Given the description of an element on the screen output the (x, y) to click on. 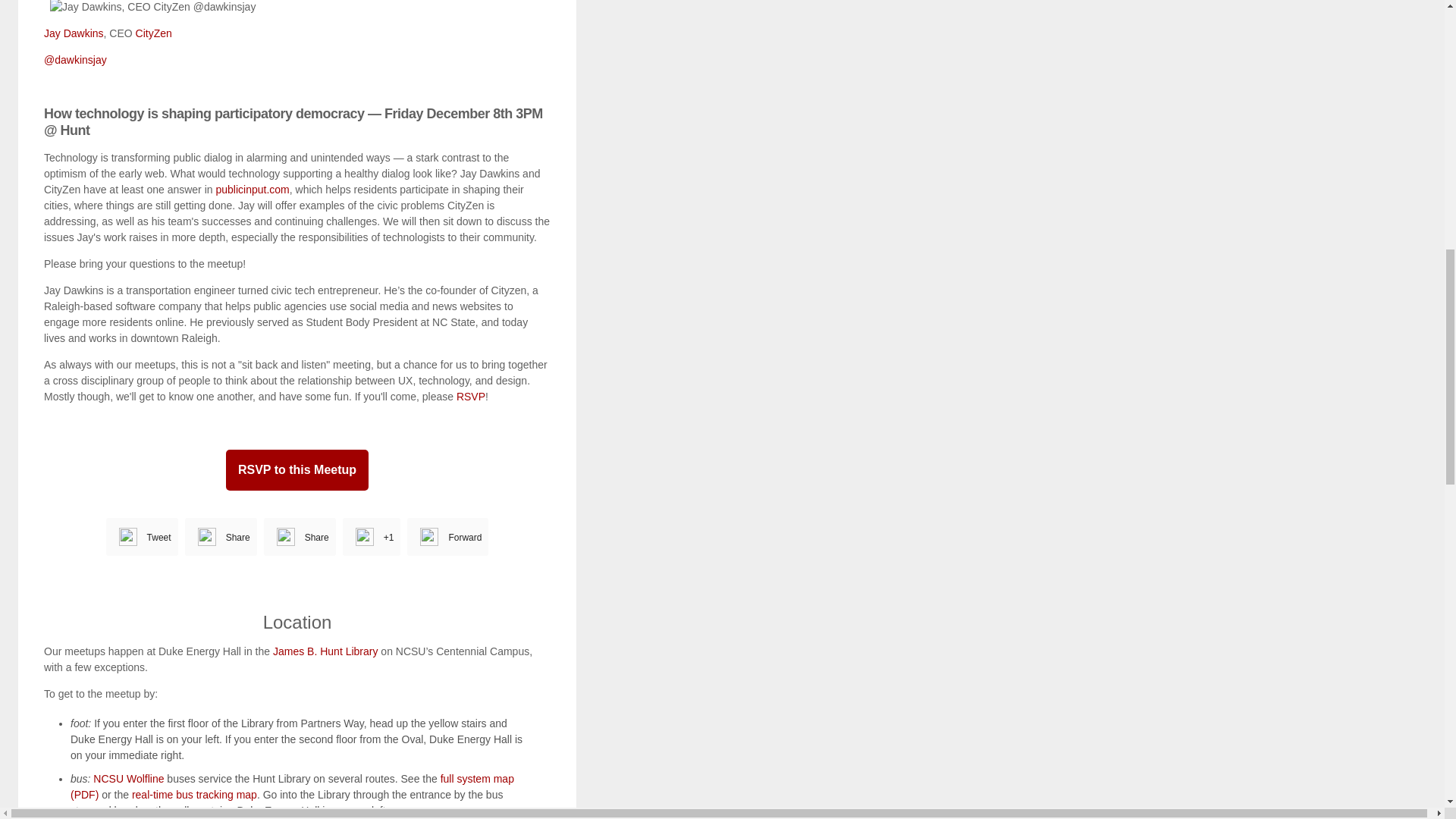
Share (237, 537)
RSVP (470, 396)
CityZen (153, 33)
Forward (464, 537)
RSVP to this Meetup (297, 469)
Tweet (159, 537)
Jay Dawkins (73, 33)
RSVP to this Meetup (297, 469)
James B. Hunt Library (325, 651)
publicinput.com (251, 189)
Share (316, 537)
NCSU Wolfline (128, 778)
real-time bus tracking map (194, 794)
